Given the description of an element on the screen output the (x, y) to click on. 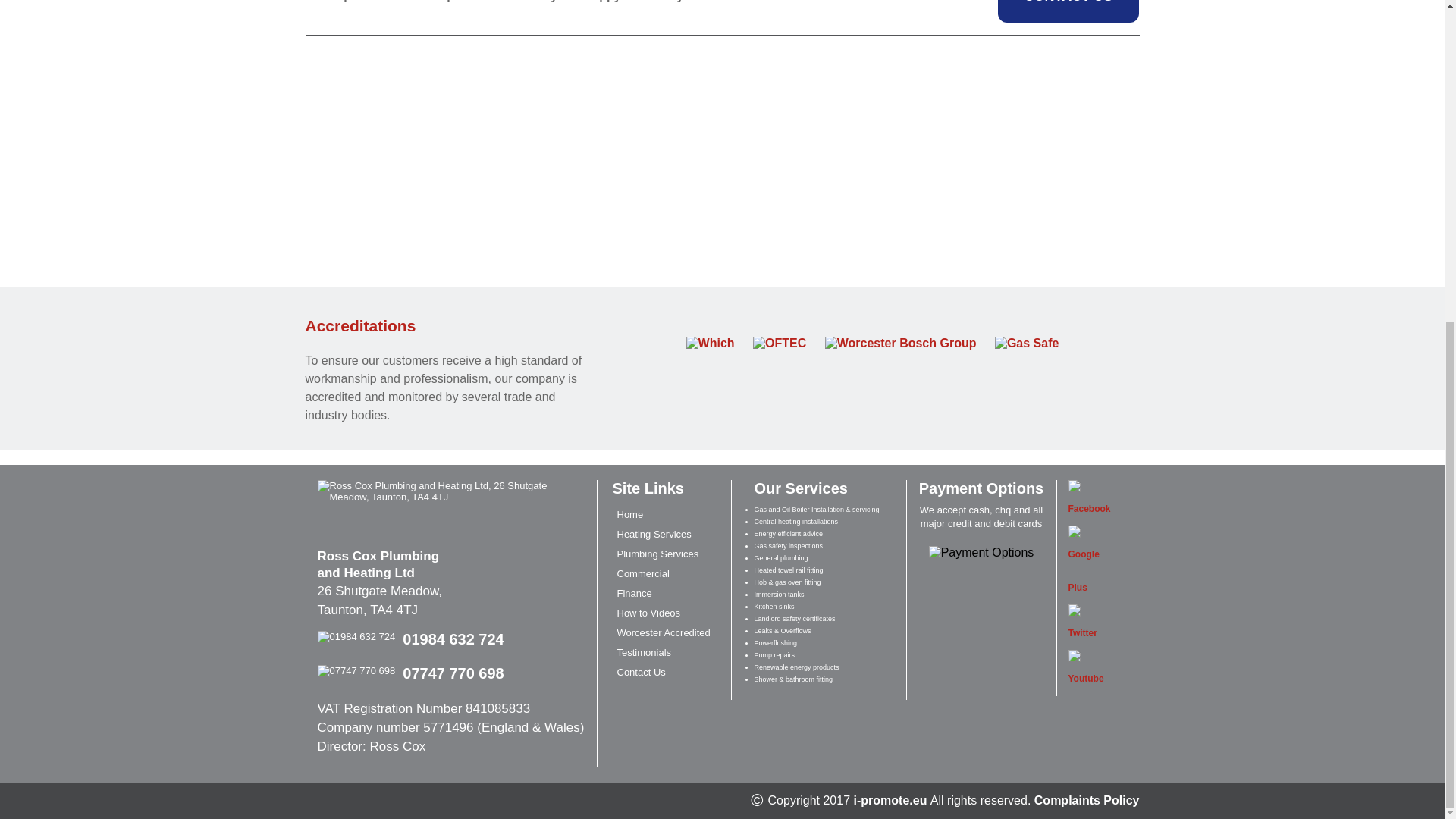
Home (630, 514)
Finance (634, 593)
Heating Services (654, 533)
CONTACT US (1068, 11)
Testimonials (644, 652)
How to Videos (649, 613)
Worcester Accredited (663, 632)
Contact Us (641, 672)
Plumbing Services (657, 553)
Heating Services (654, 533)
